Given the description of an element on the screen output the (x, y) to click on. 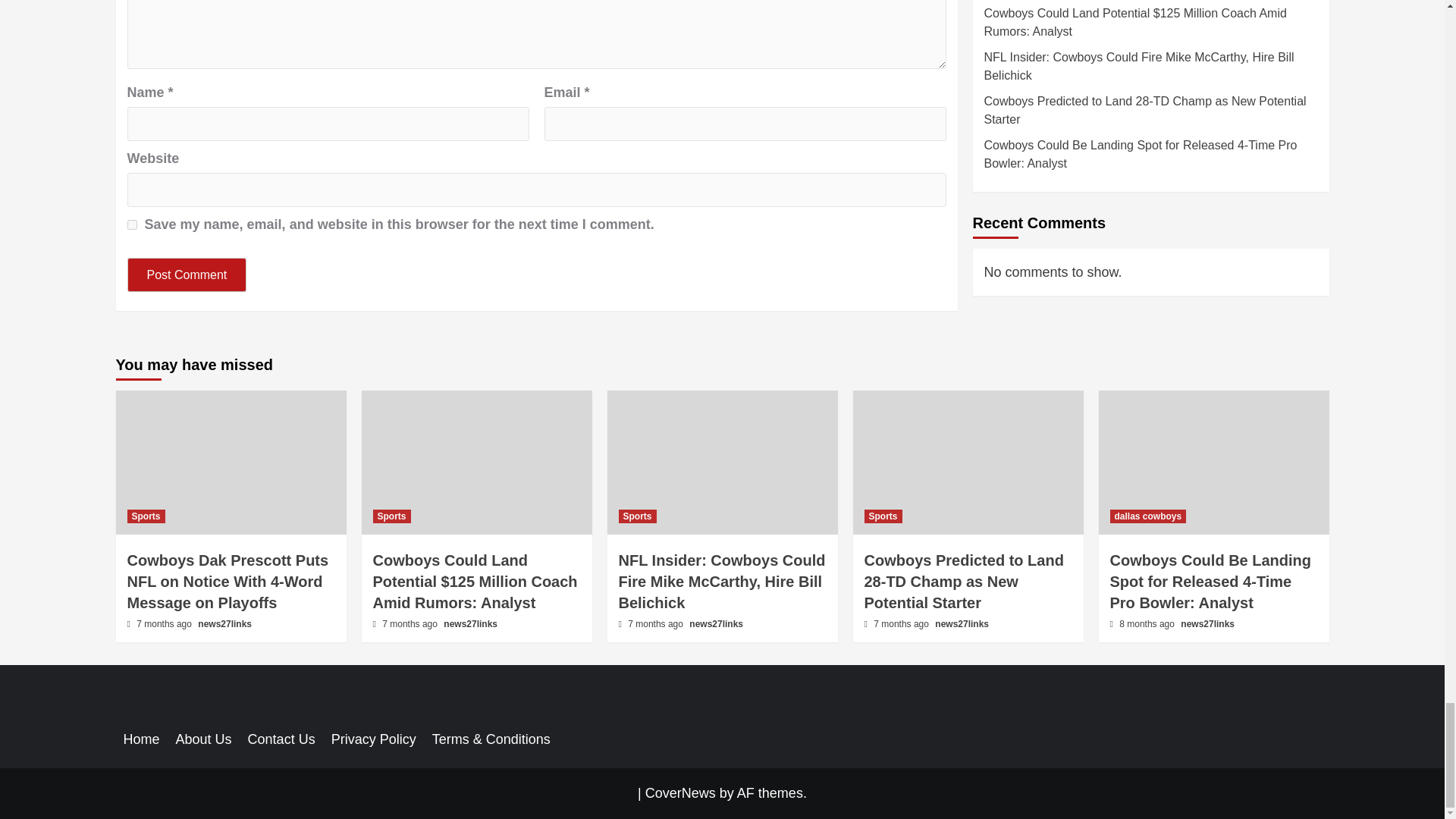
Post Comment (187, 274)
Post Comment (187, 274)
Sports (391, 516)
Sports (146, 516)
news27links (224, 624)
yes (132, 225)
7 months ago (164, 624)
